Given the description of an element on the screen output the (x, y) to click on. 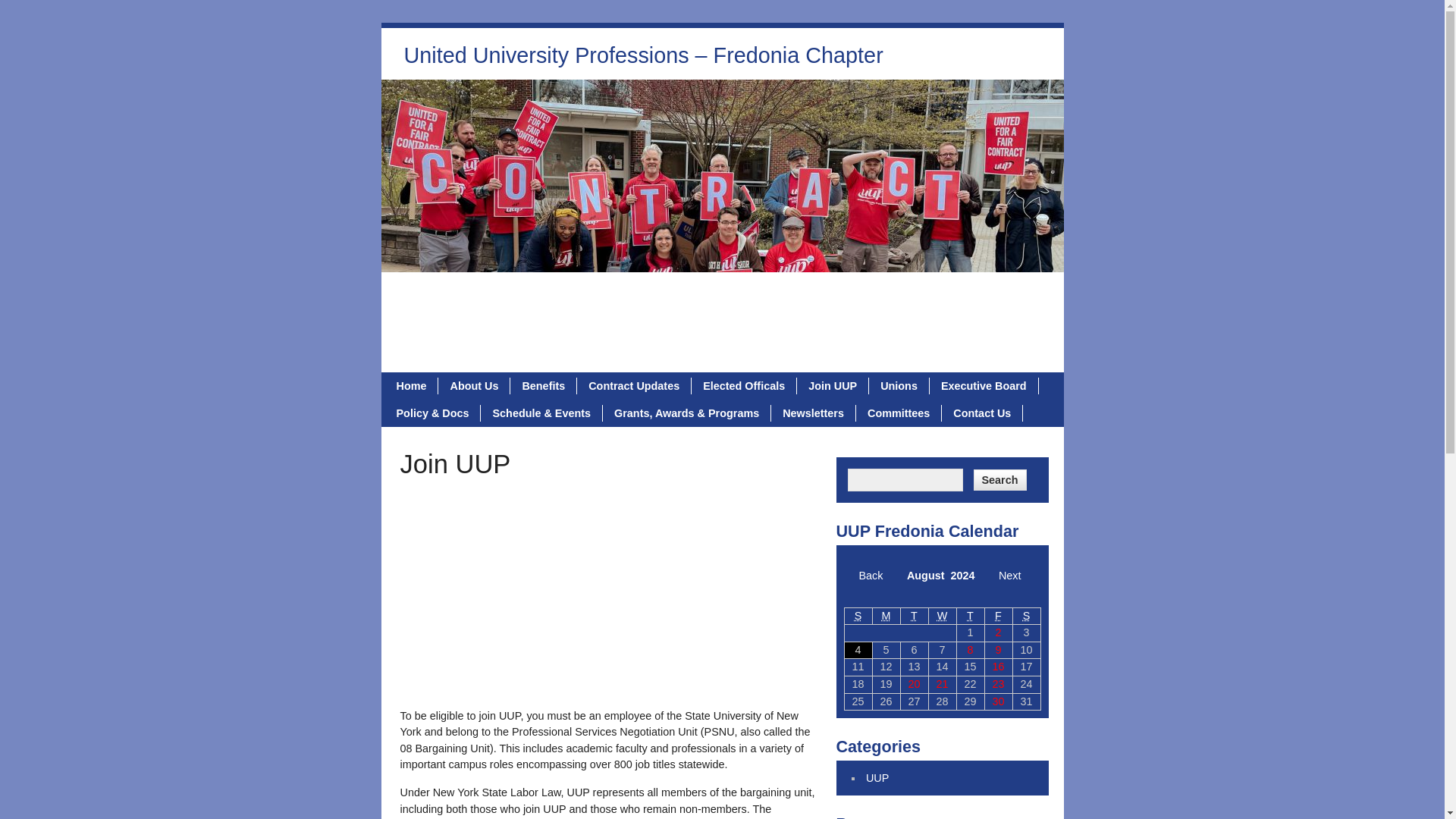
Benefits (543, 385)
Home (412, 385)
Back (870, 575)
Unions (899, 385)
Elected Officals (743, 385)
Next month (1010, 575)
UUP (877, 777)
Search (1000, 479)
Previous month (870, 575)
UUP Identity Ad : "We open doors" (582, 588)
Contract Updates (633, 385)
About Us (474, 385)
Executive Board (984, 385)
Join UUP (832, 385)
Committees (899, 412)
